Given the description of an element on the screen output the (x, y) to click on. 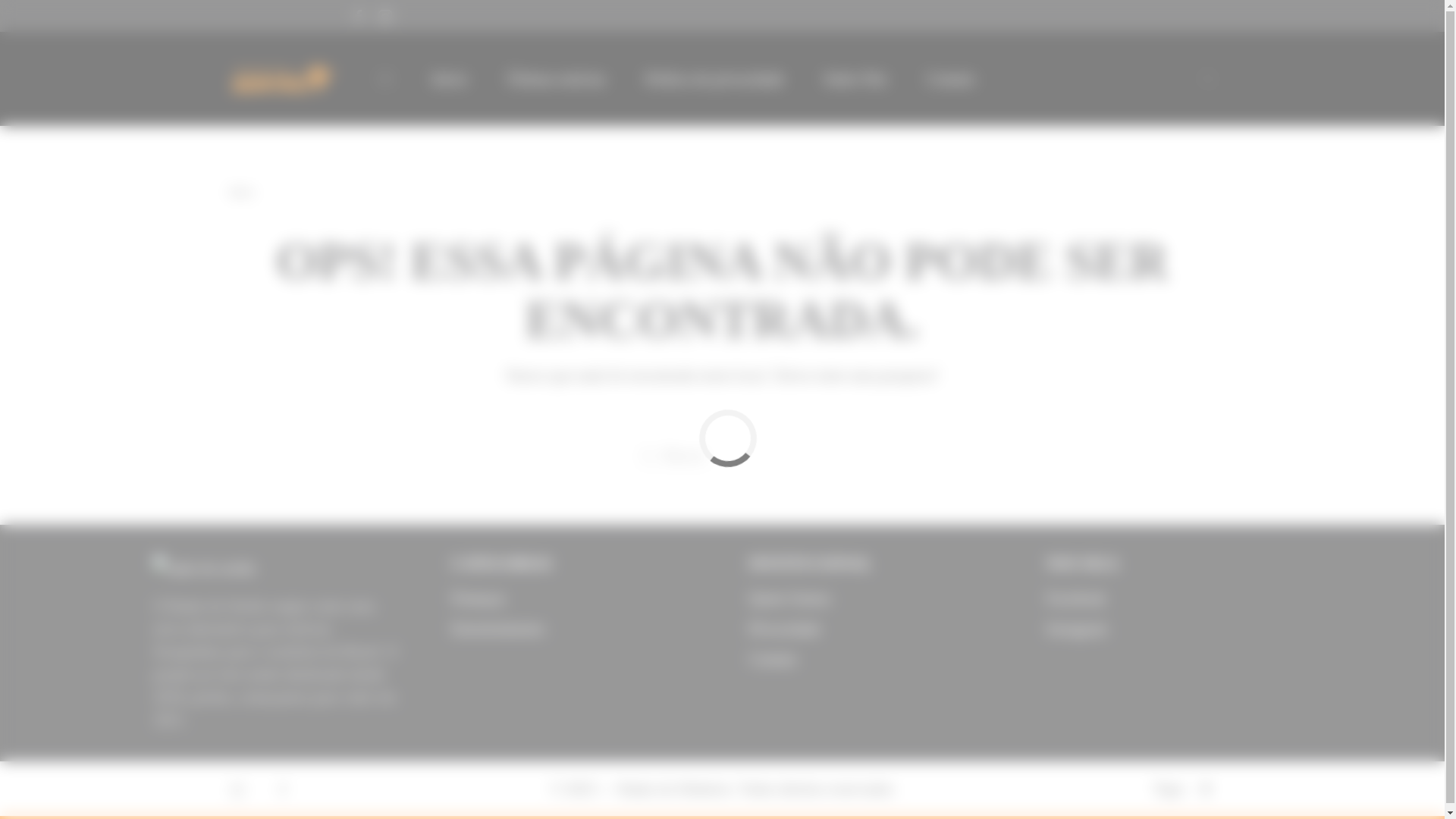
Instagram (1168, 628)
Contato (871, 658)
Privacidade (871, 628)
Facebook (1168, 598)
Entretenimento (497, 628)
Contato (950, 78)
Quem Somos (871, 598)
Back to Top (1204, 789)
